Given the description of an element on the screen output the (x, y) to click on. 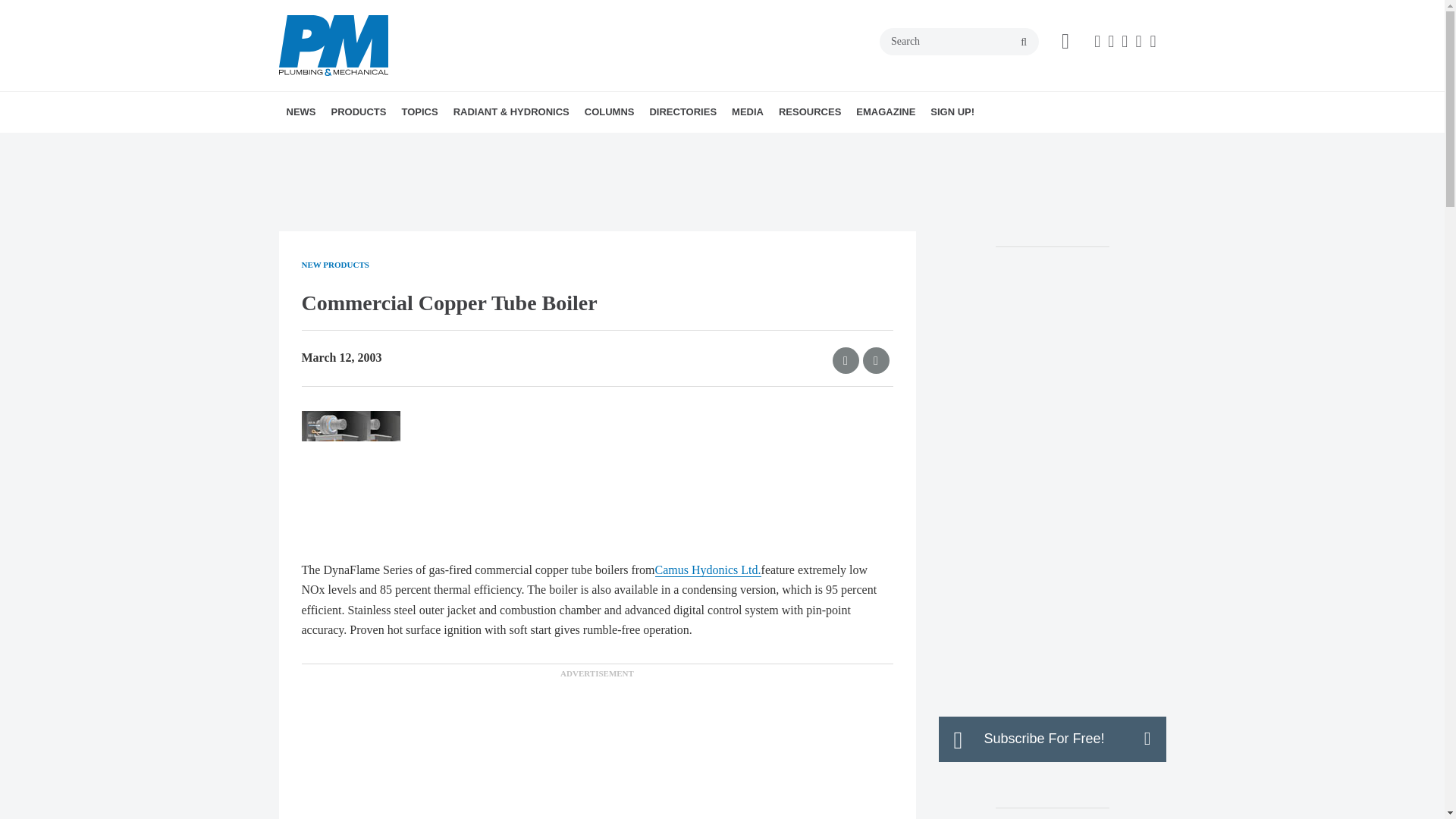
CODES CORNER (671, 145)
KENNY CHAPMAN (690, 145)
PROJECT PROFILES (525, 145)
Search (959, 41)
TOPICS (419, 111)
JOHN SIEGENTHALER (683, 145)
PRODUCTS (358, 111)
RADIANT COMFORT REPORT (539, 145)
FIRE PROTECTION (532, 145)
BUSINESS MANAGEMENT (496, 145)
